Given the description of an element on the screen output the (x, y) to click on. 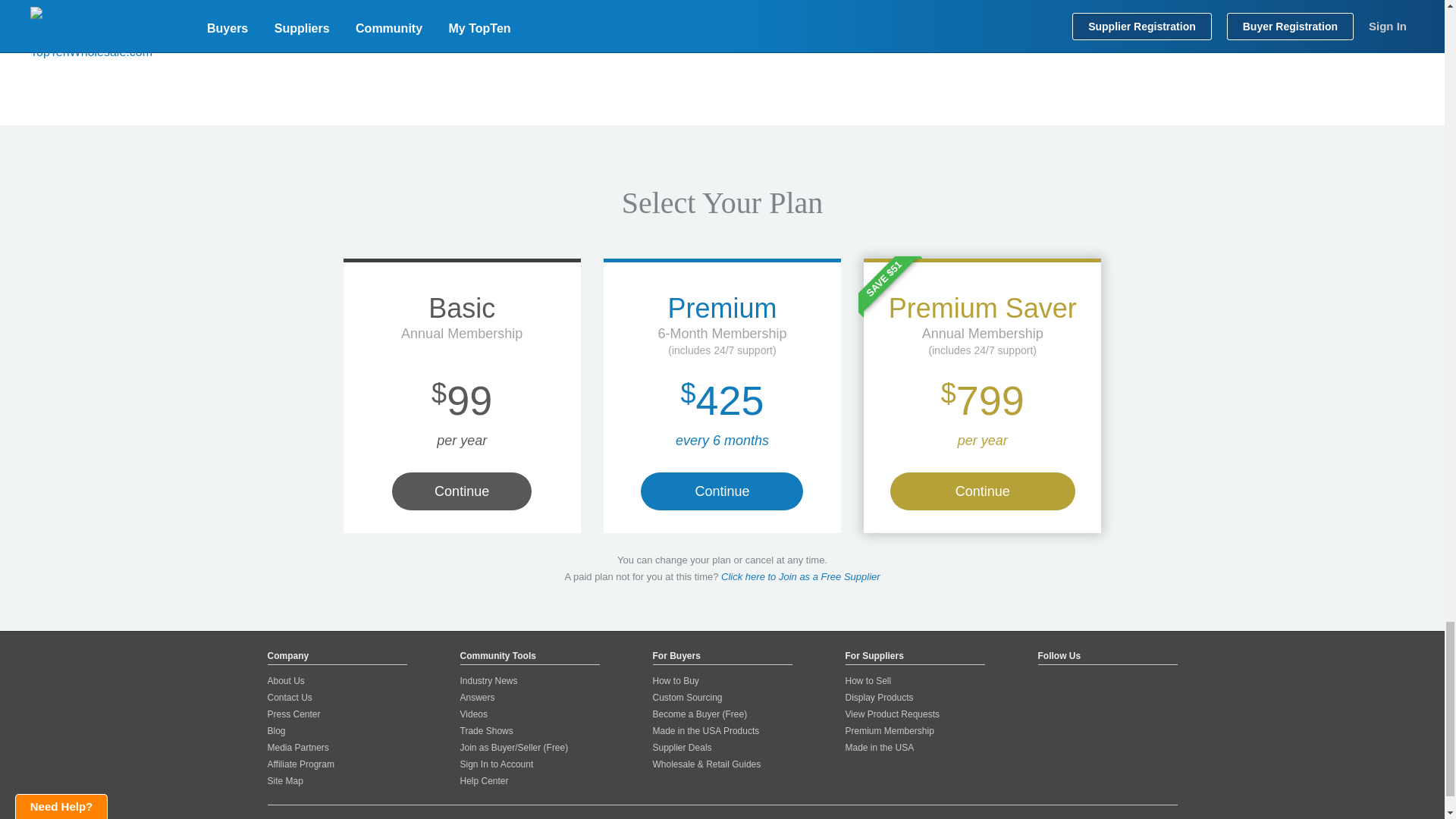
Media Partners (297, 747)
Site Map (284, 780)
Industry News (488, 680)
Affiliate Program (299, 764)
Videos (473, 714)
Contact Us (288, 697)
About Us (285, 680)
Continue (721, 491)
Continue (461, 491)
Continue (982, 491)
Click here to Join as a Free Supplier (800, 576)
Blog (275, 730)
Press Center (293, 714)
Answers (477, 697)
